Given the description of an element on the screen output the (x, y) to click on. 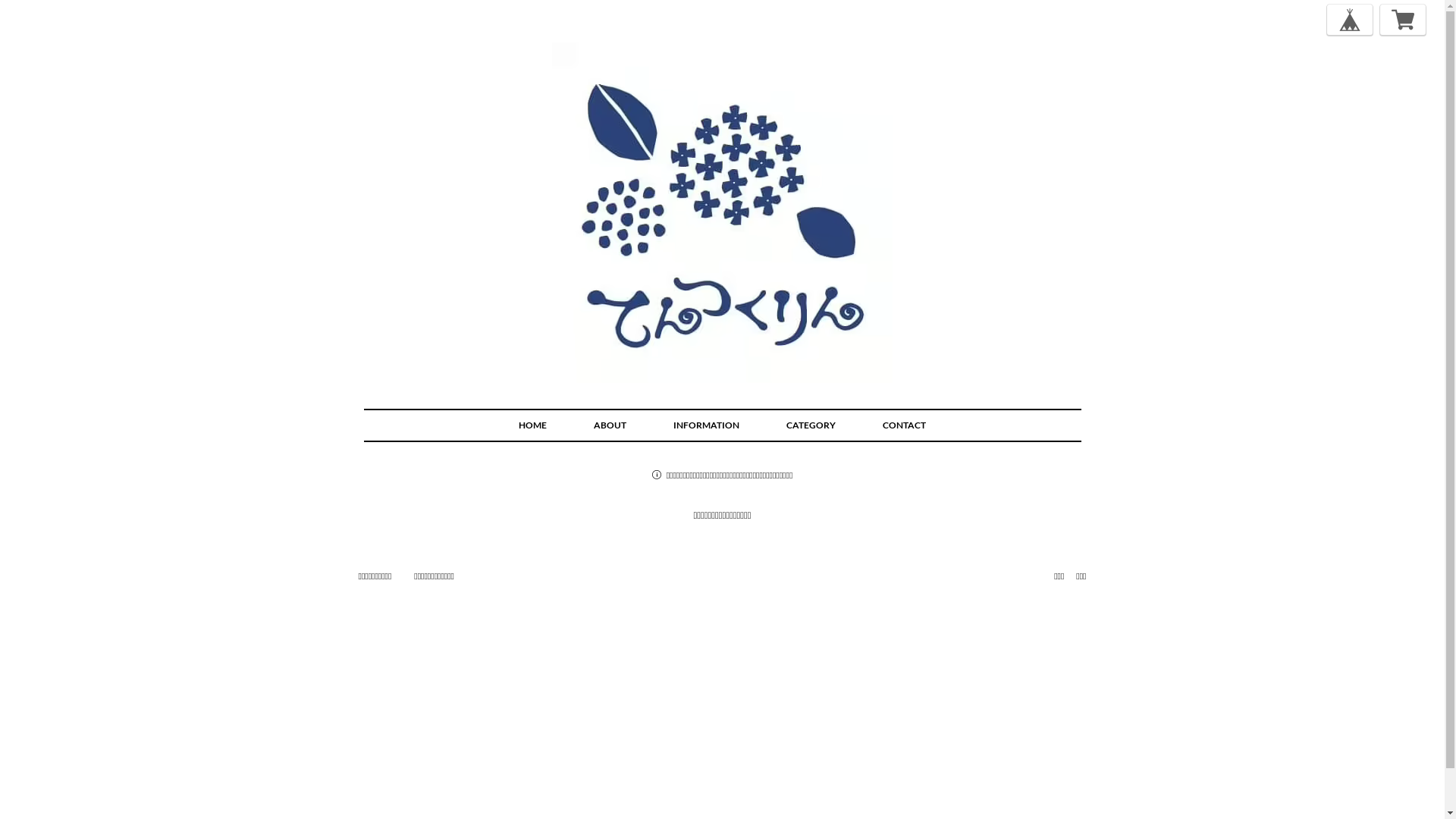
INFORMATION Element type: text (705, 425)
ABOUT Element type: text (609, 425)
BASE Element type: hover (1349, 19)
CONTACT Element type: text (904, 425)
HOME Element type: text (532, 425)
